Given the description of an element on the screen output the (x, y) to click on. 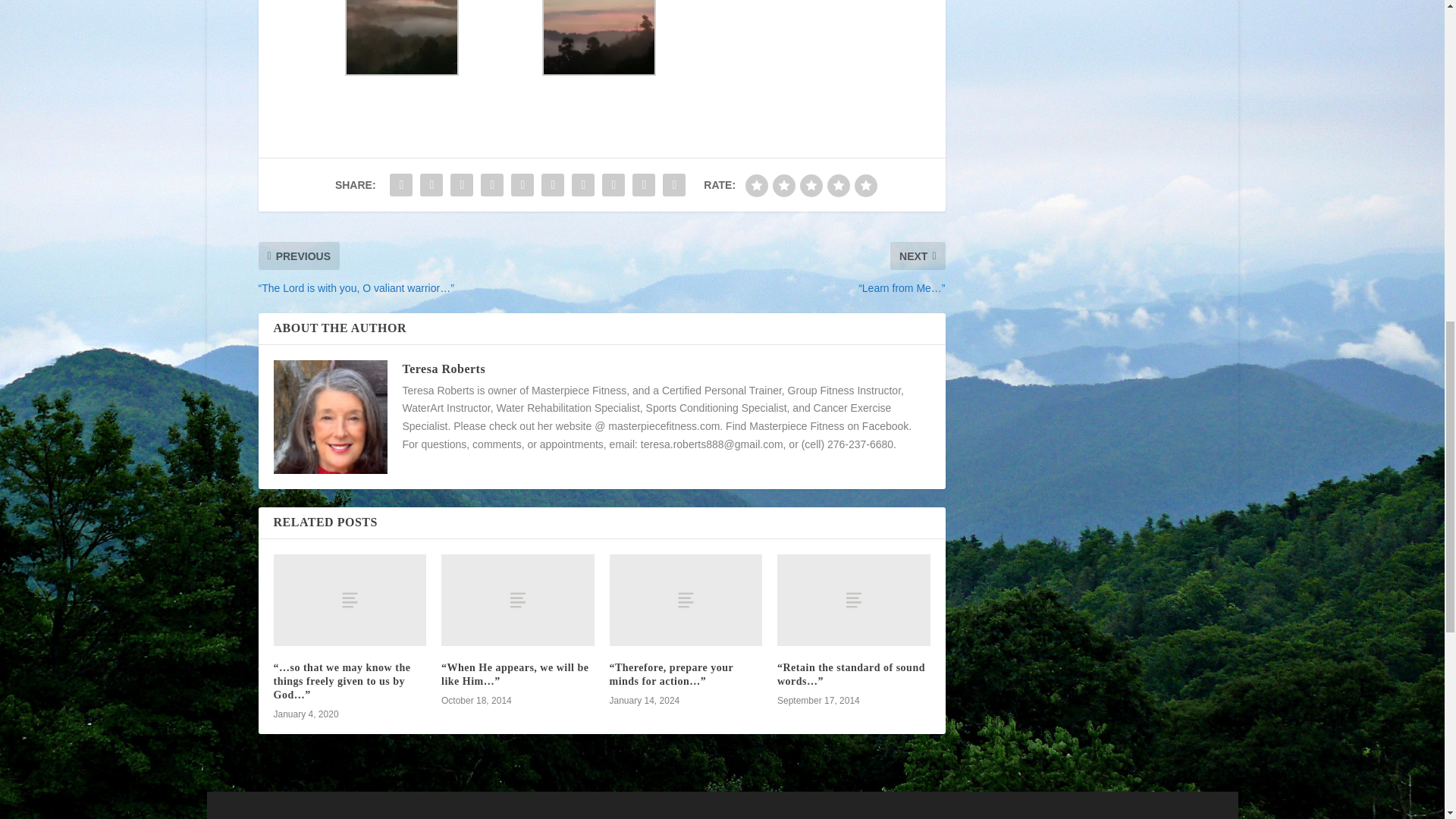
bad (756, 185)
